Given the description of an element on the screen output the (x, y) to click on. 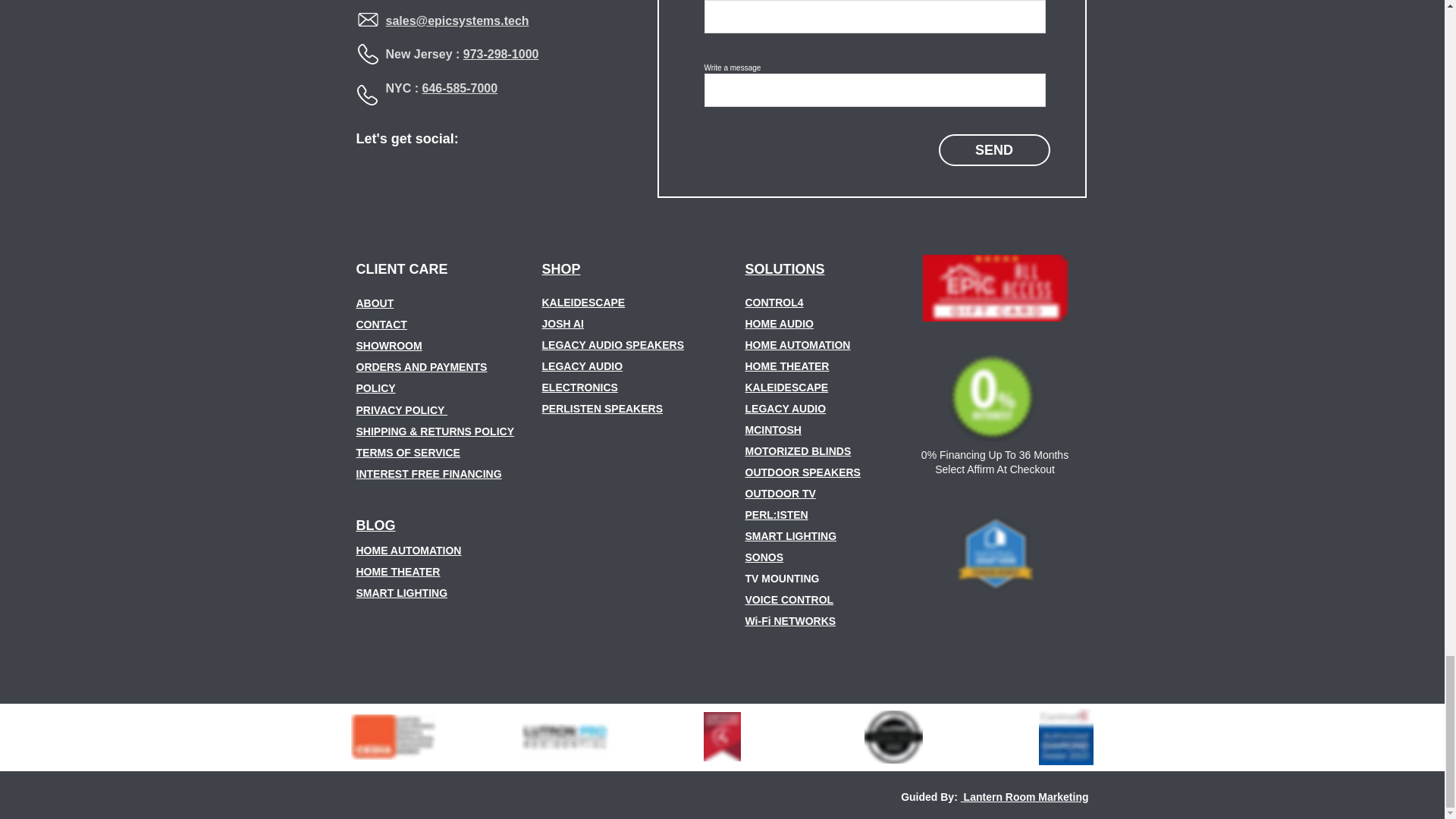
New Jersey Lutron Diamond Dealer (893, 736)
New Jersey Contol4 Diamond Dealer (1066, 736)
National Smart Member Bergen County NJ (994, 553)
Epic GiftCard  (994, 287)
New Jersey Lutron Dealer (564, 736)
CEDIA Member New Jersey (398, 737)
